Given the description of an element on the screen output the (x, y) to click on. 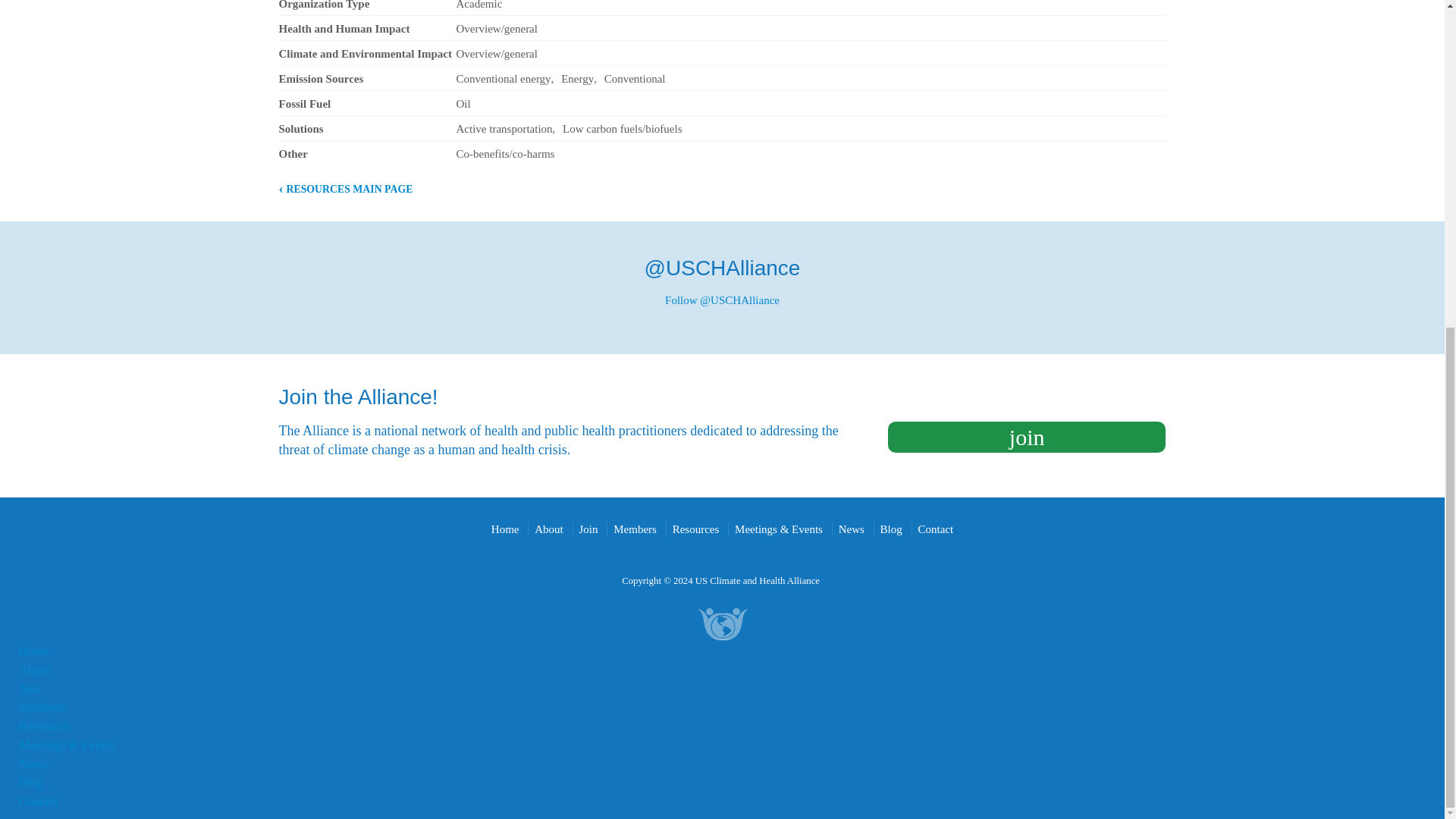
About (548, 529)
Home (505, 529)
Join (588, 529)
Twitter will open in a new tab or window (722, 268)
join (1027, 436)
Resources (695, 529)
RESOURCES MAIN PAGE (346, 188)
Members (634, 529)
